Given the description of an element on the screen output the (x, y) to click on. 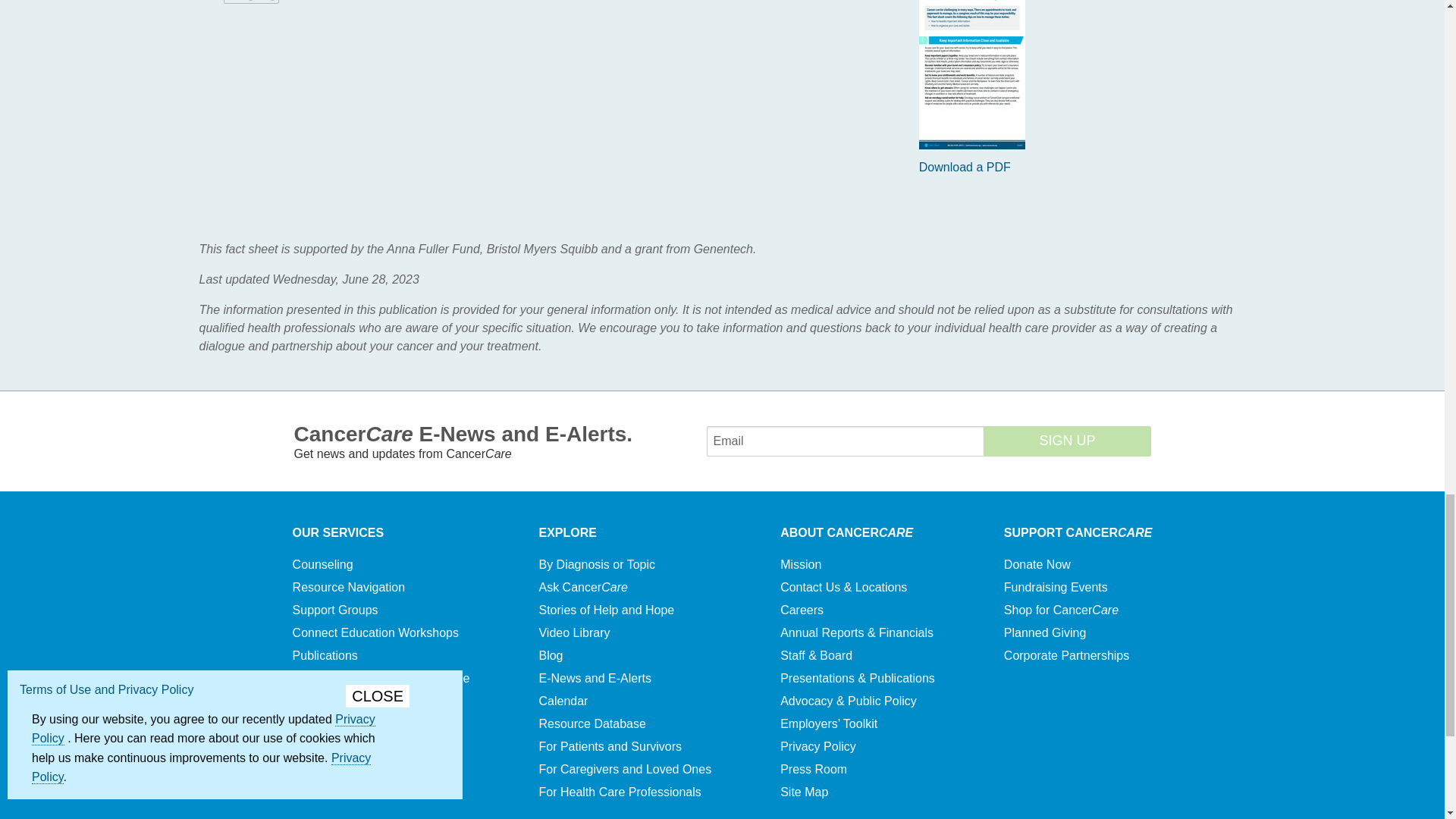
SIGN UP (1067, 440)
